Given the description of an element on the screen output the (x, y) to click on. 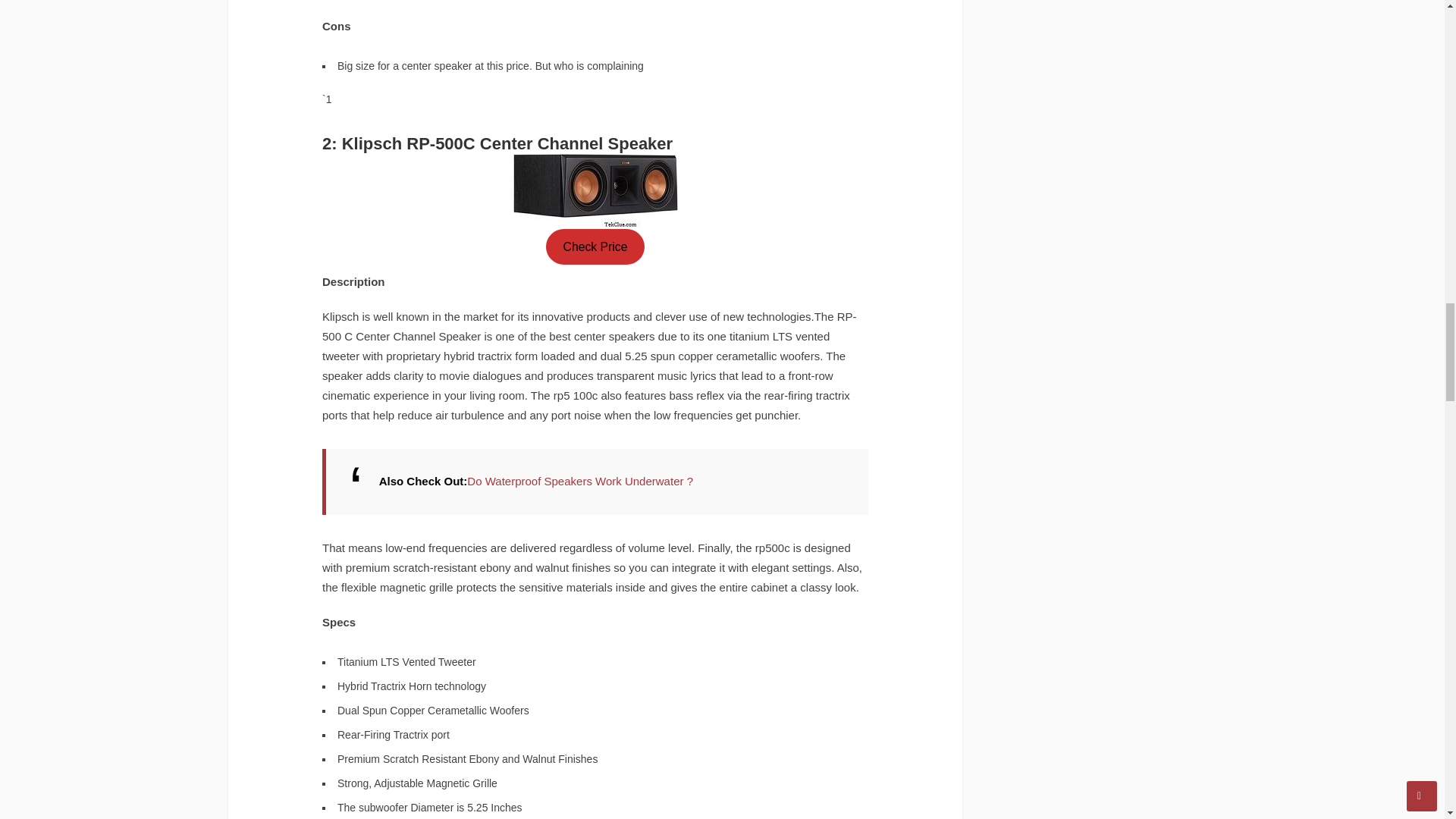
Check Price (595, 246)
Do Waterproof Speakers Work Underwater ? (580, 481)
